Given the description of an element on the screen output the (x, y) to click on. 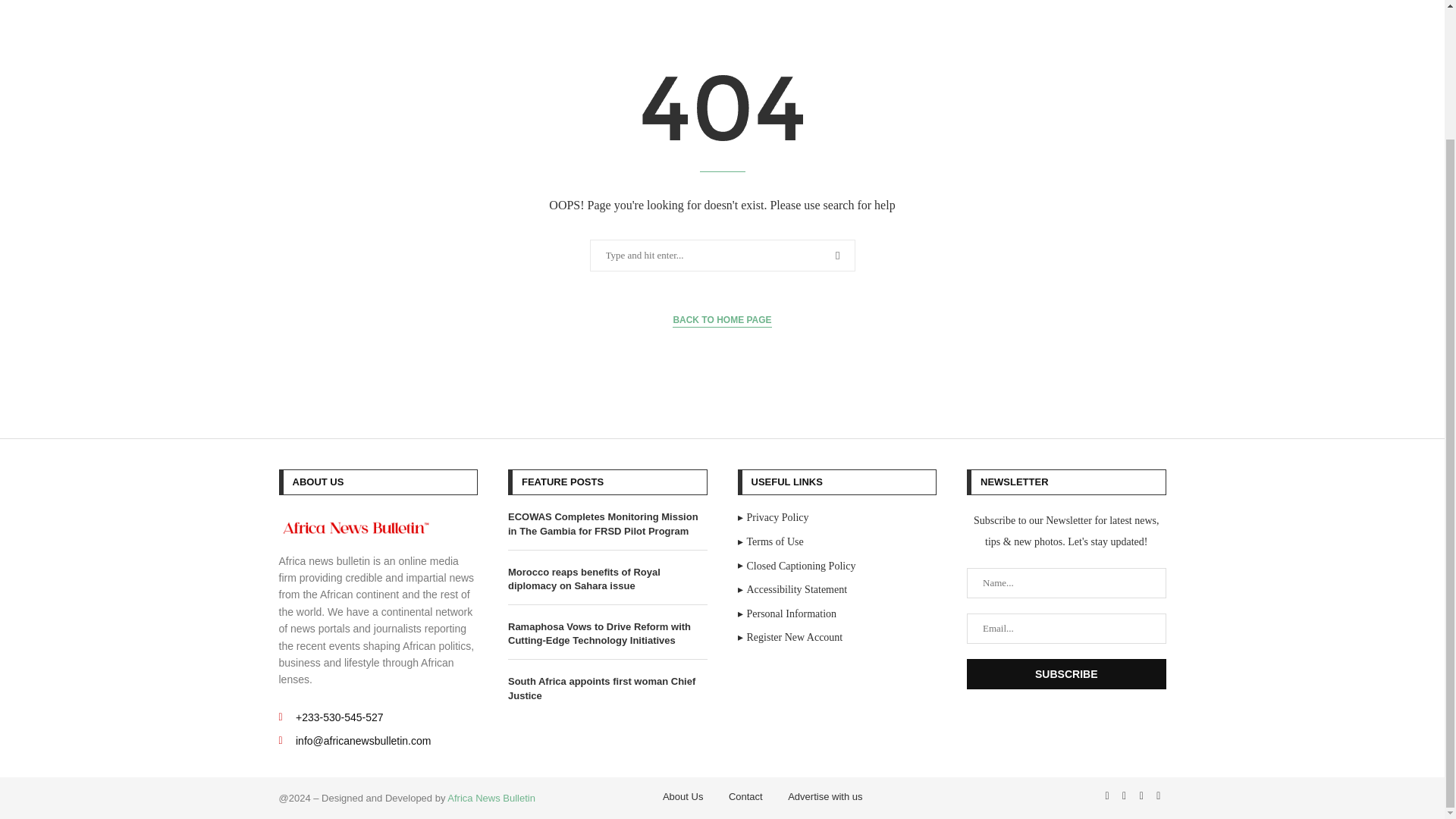
Subscribe (1066, 674)
